Given the description of an element on the screen output the (x, y) to click on. 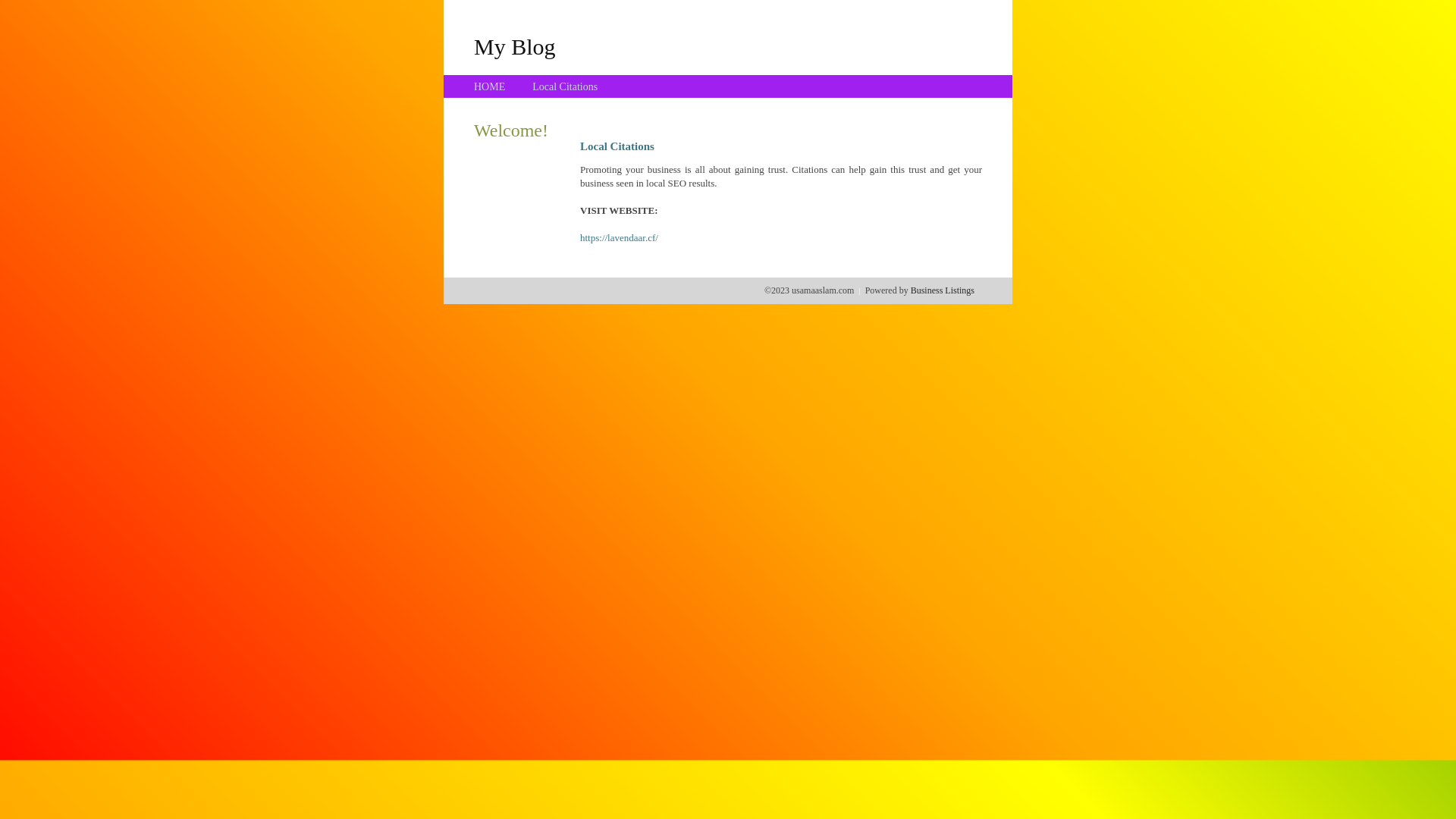
HOME Element type: text (489, 86)
https://lavendaar.cf/ Element type: text (619, 237)
Business Listings Element type: text (942, 290)
My Blog Element type: text (514, 46)
Local Citations Element type: text (564, 86)
